Given the description of an element on the screen output the (x, y) to click on. 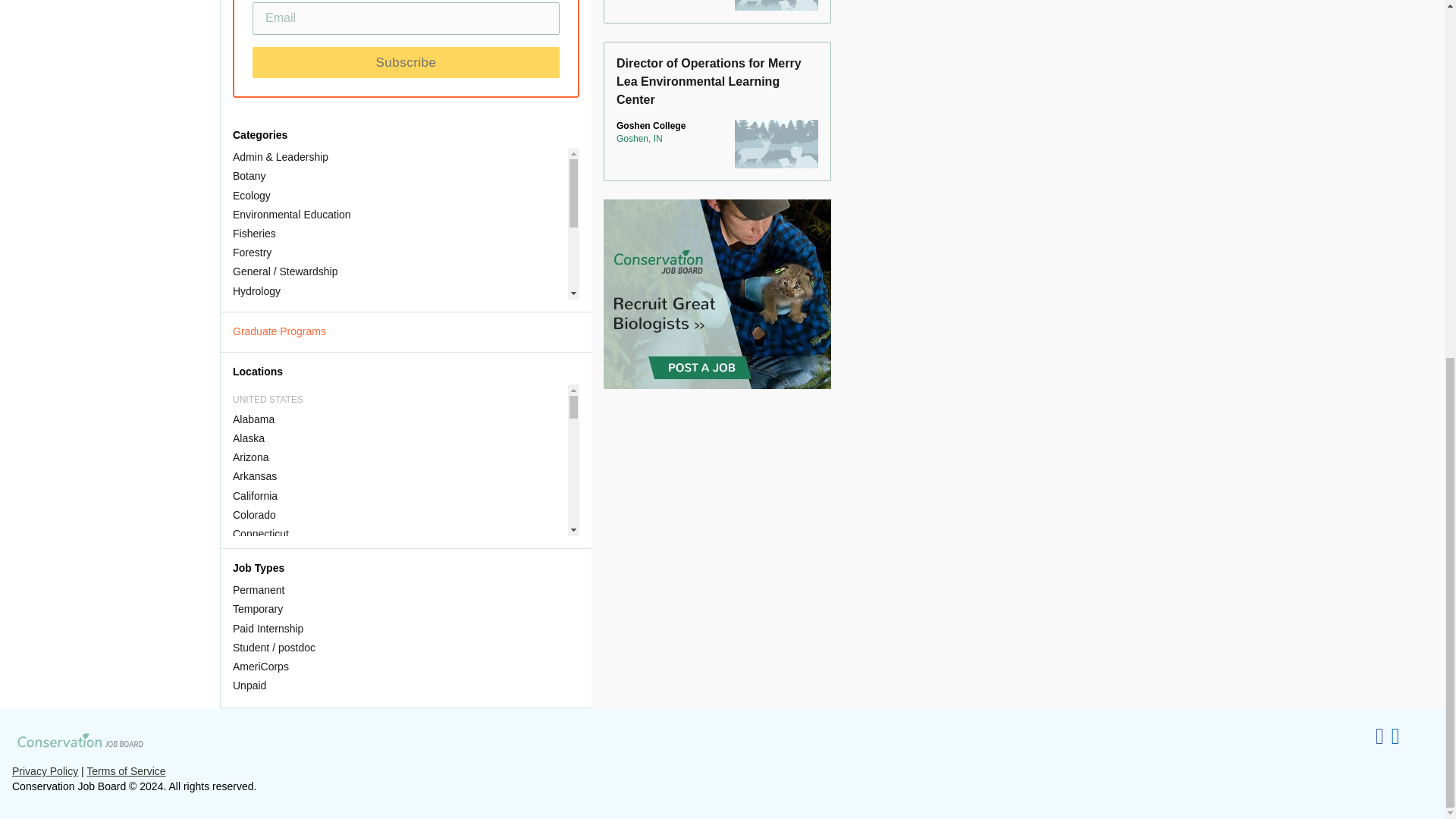
Follow us on LinkedIn (1395, 735)
Follow us on Facebook (1379, 735)
